Given the description of an element on the screen output the (x, y) to click on. 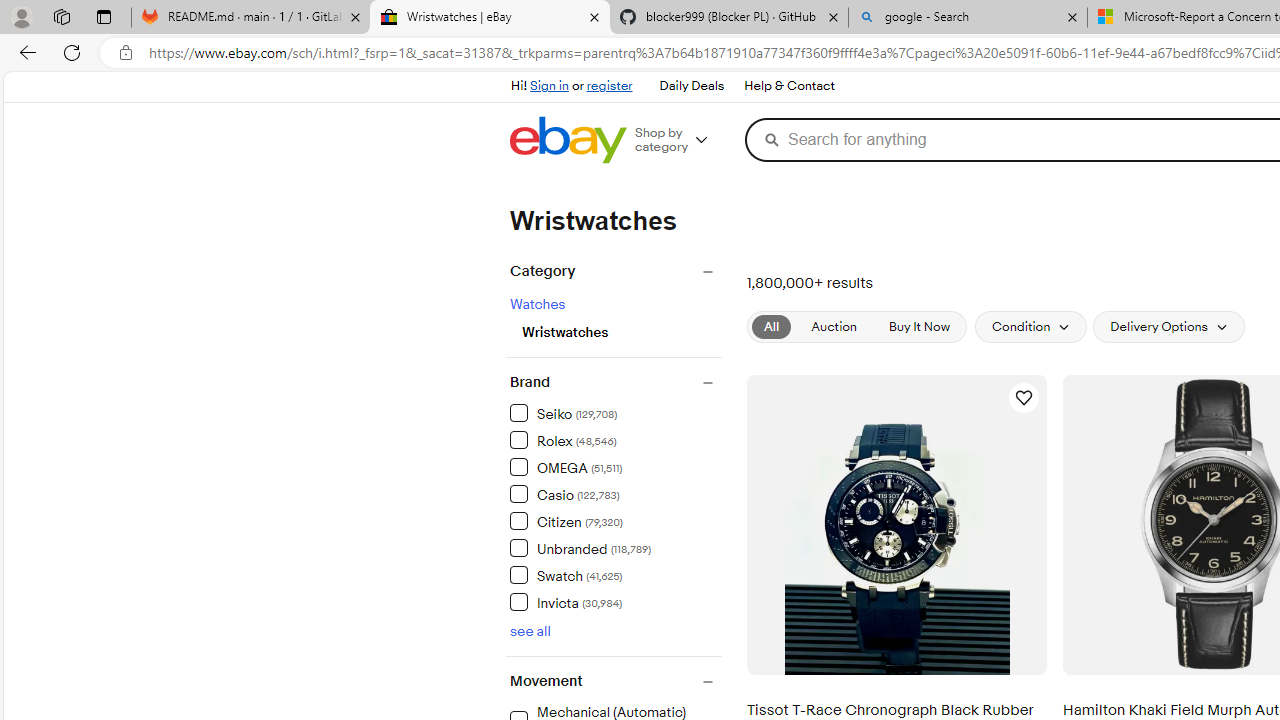
see all - Brand - opens dialog (529, 631)
Auction (833, 326)
Brand (615, 382)
Casio (122,783) Items (564, 494)
Unbranded(118,789) Items (615, 547)
Daily Deals (691, 86)
Citizen (79,320) Items (566, 520)
Rolex (48,546) Items (562, 440)
WatchesSelected categoryWristwatches (615, 315)
Swatch (41,625) Items (566, 574)
CategoryWatchesSelected categoryWristwatches (613, 309)
Invicta(30,984) Items (615, 601)
